Given the description of an element on the screen output the (x, y) to click on. 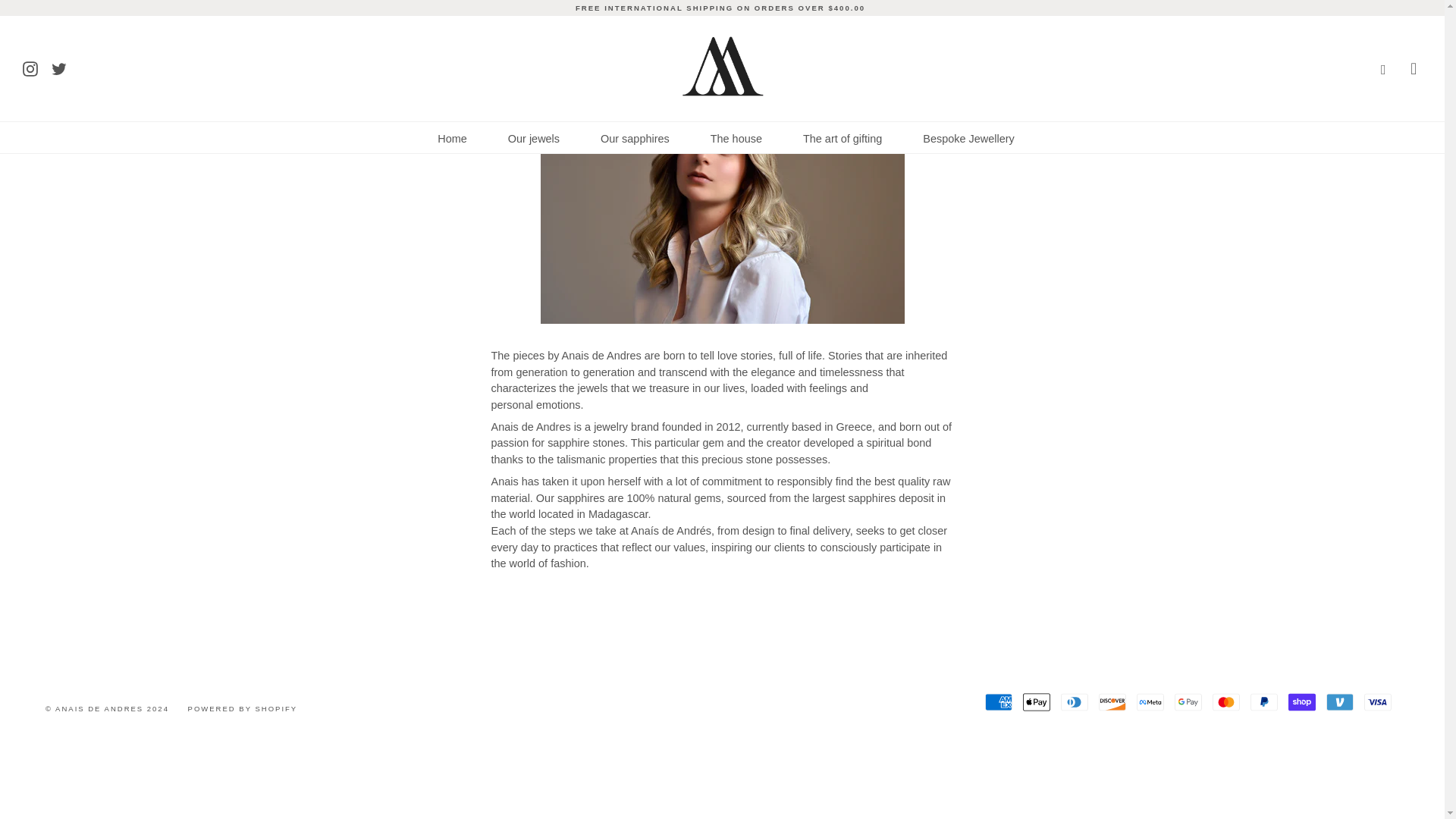
POWERED BY SHOPIFY (242, 708)
Twitter (58, 67)
Bespoke Jewellery (967, 138)
The art of gifting (842, 138)
Instagram (30, 67)
Our jewels (533, 138)
The house (735, 138)
Our sapphires (634, 138)
Anais de Andres  on Instagram (30, 67)
Anais de Andres  on Twitter (58, 67)
Home (451, 138)
